Given the description of an element on the screen output the (x, y) to click on. 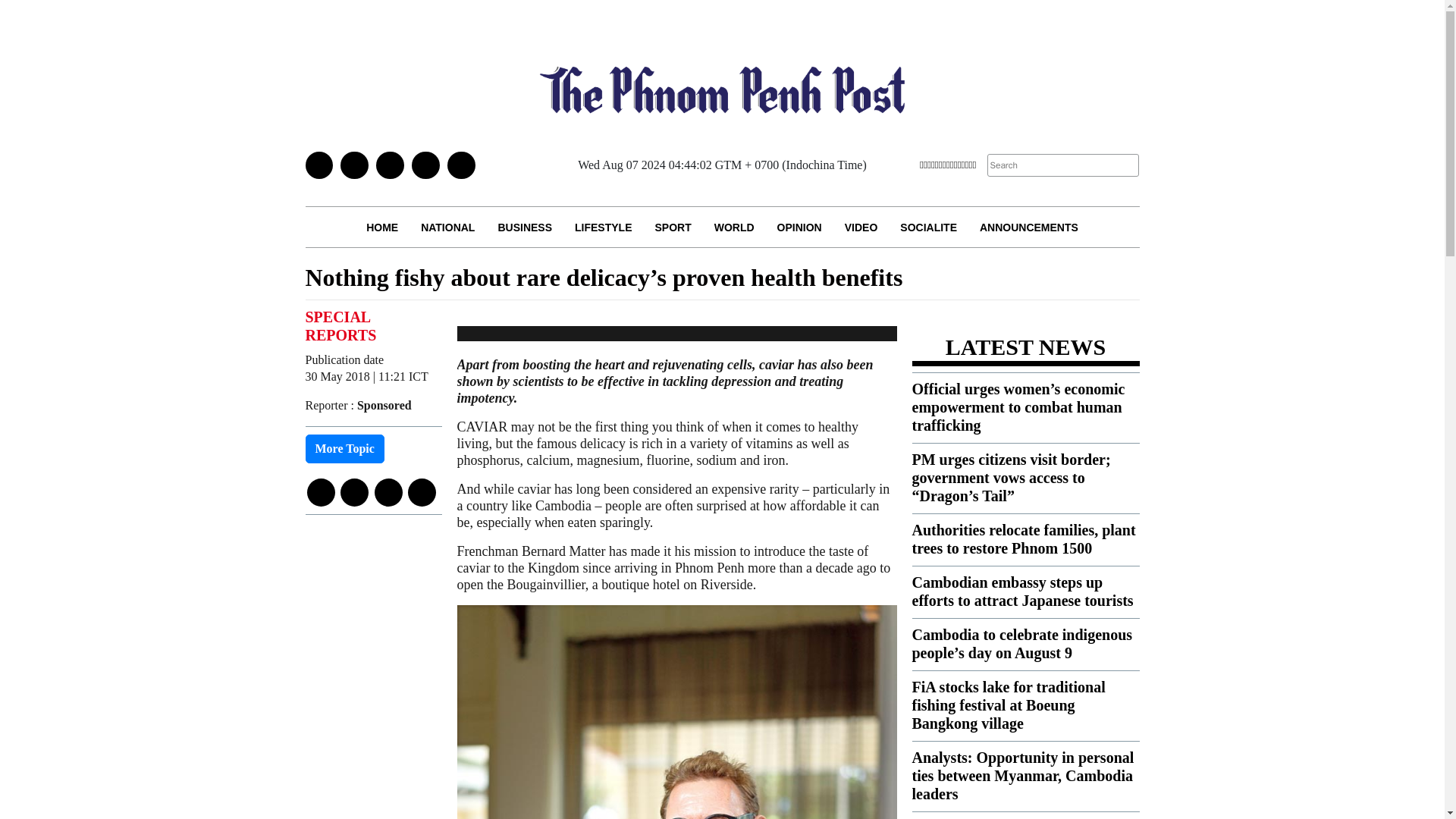
WORLD (734, 227)
LIFESTYLE (603, 227)
SPORT (672, 227)
More Topic (344, 448)
SOCIALITE (928, 227)
BUSINESS (524, 227)
ANNOUNCEMENTS (1028, 227)
OPINION (798, 227)
NATIONAL (447, 227)
VIDEO (860, 227)
HOME (382, 227)
